Given the description of an element on the screen output the (x, y) to click on. 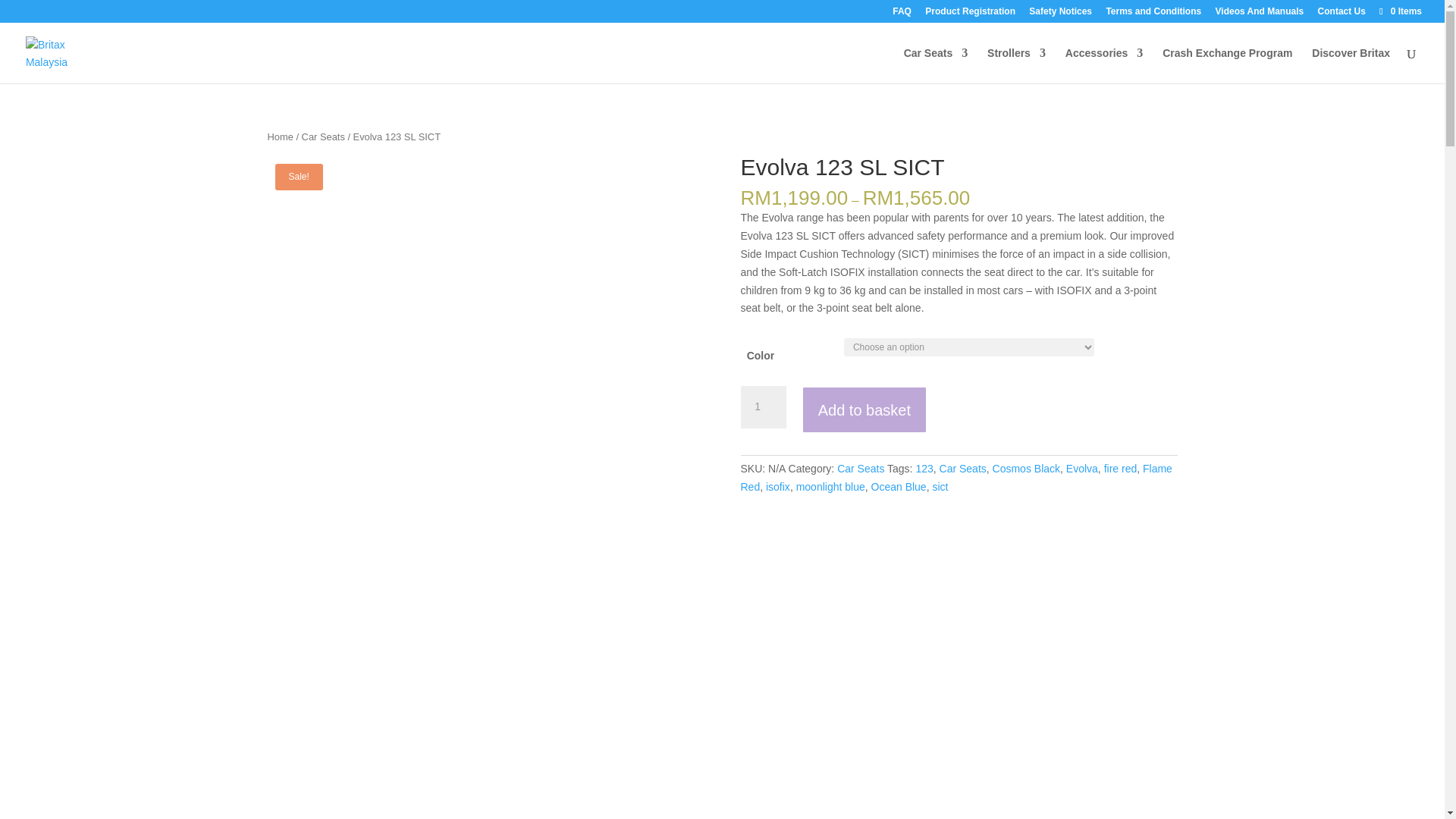
Accessories (1103, 65)
Safety Notices (1060, 14)
fire red (1120, 468)
Terms and Conditions (1153, 14)
Strollers (1016, 65)
FAQ (901, 14)
Car Seats (963, 468)
1 (762, 406)
123 (924, 468)
Evolva (1081, 468)
Cosmos Black (1025, 468)
Car Seats (323, 136)
Contact Us (1341, 14)
Videos And Manuals (1259, 14)
Crash Exchange Program (1226, 65)
